Given the description of an element on the screen output the (x, y) to click on. 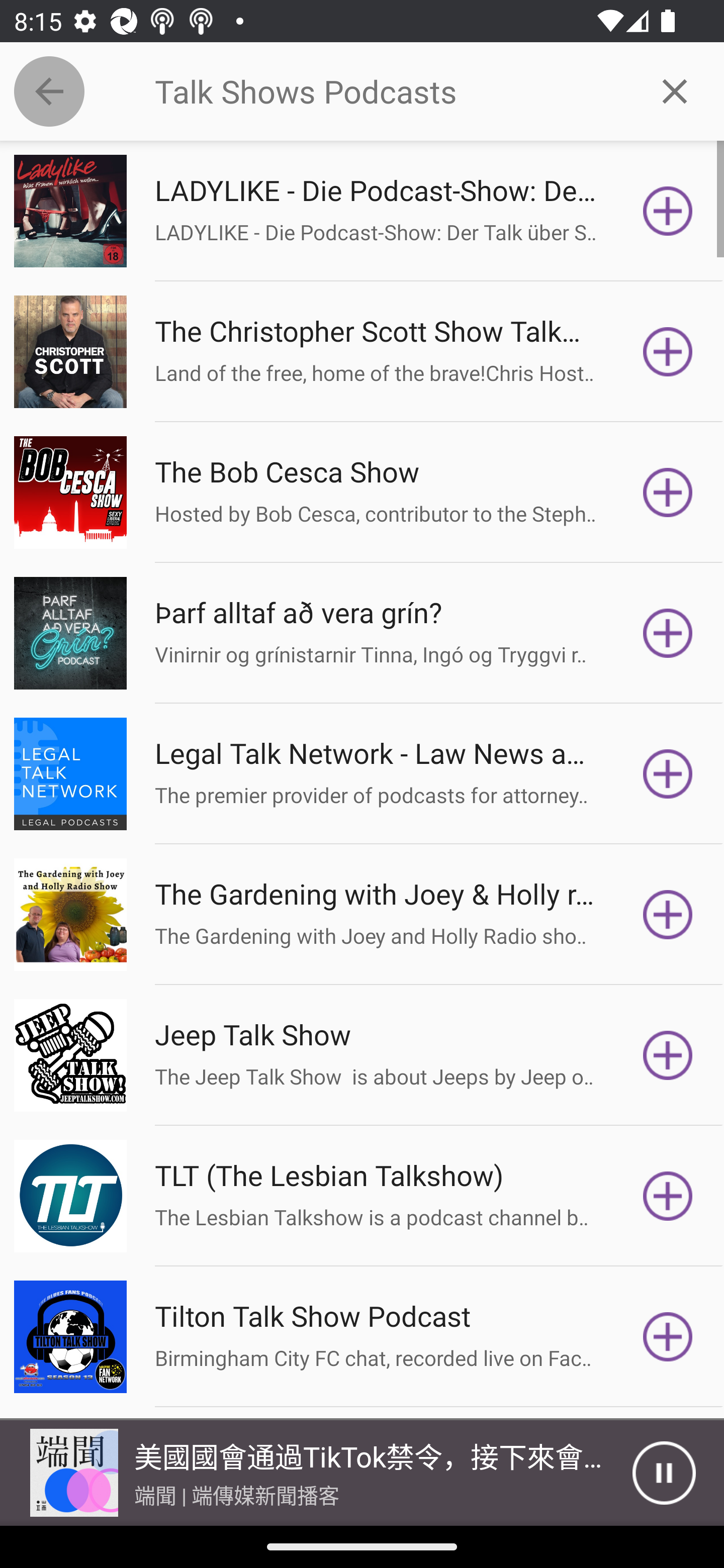
Collapse (49, 91)
Clear query (674, 90)
Talk Shows Podcasts (389, 91)
Subscribe (667, 211)
Subscribe (667, 350)
Subscribe (667, 491)
Subscribe (667, 633)
Subscribe (667, 773)
Subscribe (667, 913)
Subscribe (667, 1054)
Subscribe (667, 1195)
Subscribe (667, 1336)
Picture 美國國會通過TikTok禁令，接下來會發生什麼？ 端聞 | 端傳媒新聞播客 (316, 1472)
Pause (663, 1472)
